Given the description of an element on the screen output the (x, y) to click on. 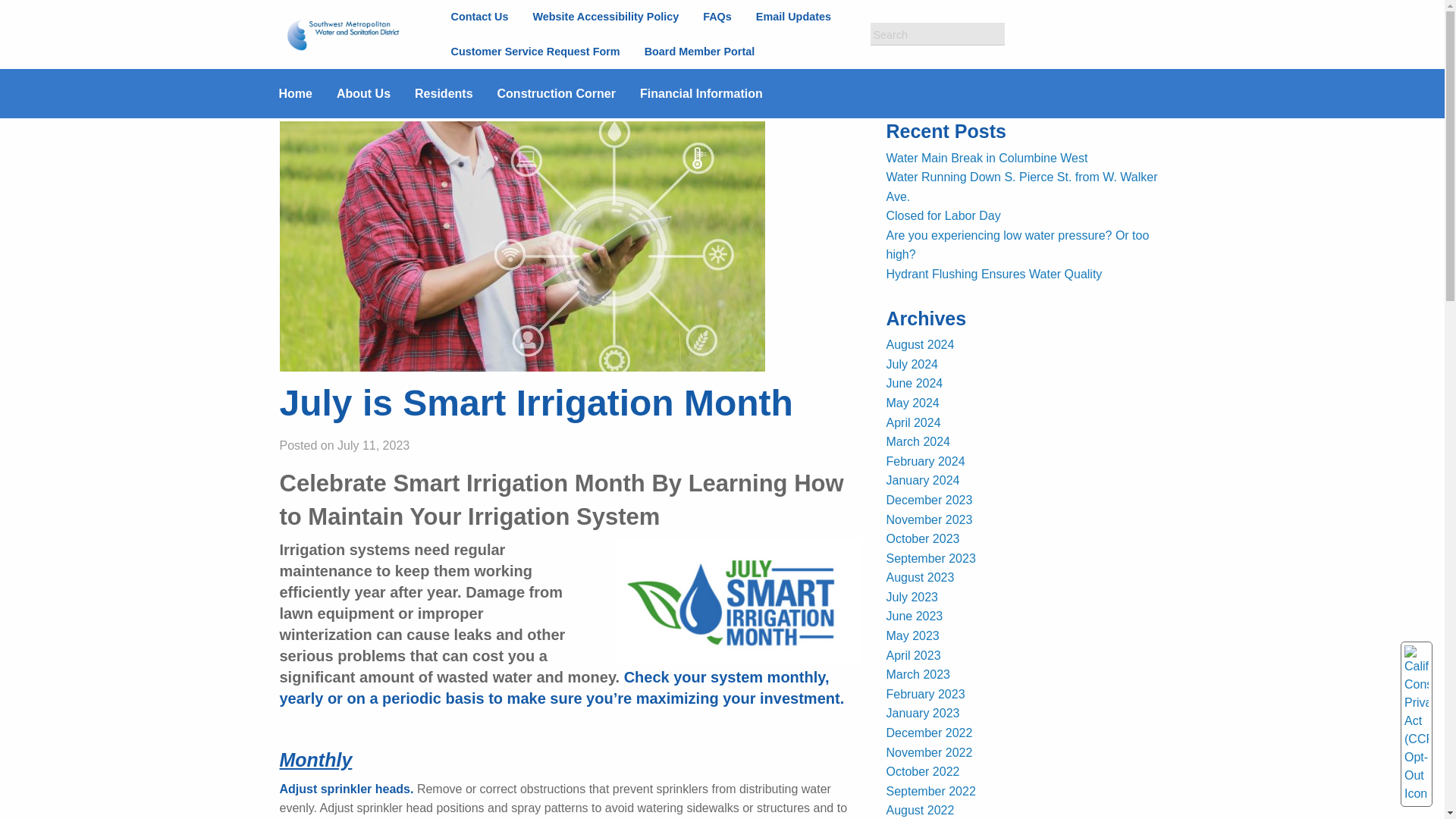
FAQs (717, 17)
Home (307, 93)
Customer Service Request Form (534, 50)
Board Member Portal (699, 50)
Construction Corner (568, 93)
About Us (375, 93)
Residents (455, 93)
Email Updates (793, 17)
Search for: (937, 33)
Website Accessibility Policy (604, 17)
